Given the description of an element on the screen output the (x, y) to click on. 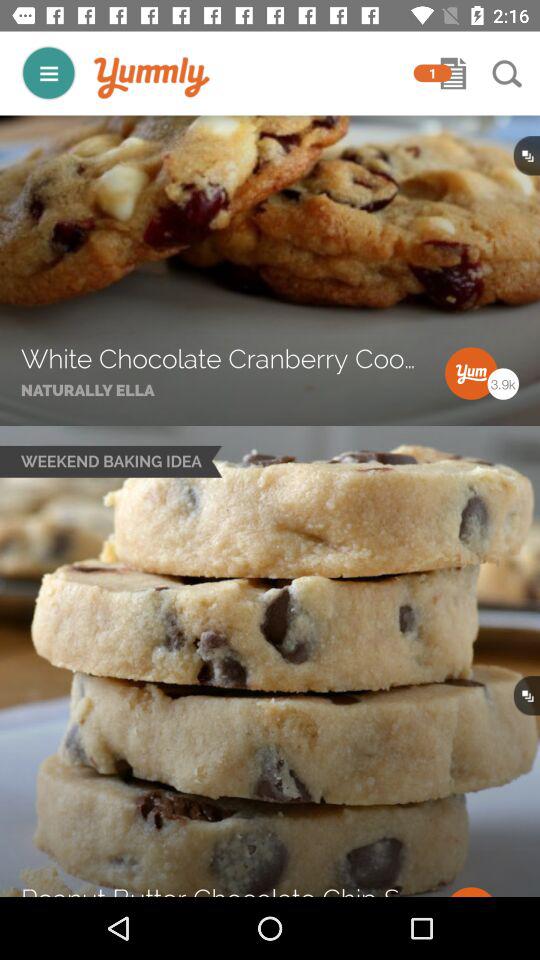
launch item to the left of  1 (152, 77)
